Given the description of an element on the screen output the (x, y) to click on. 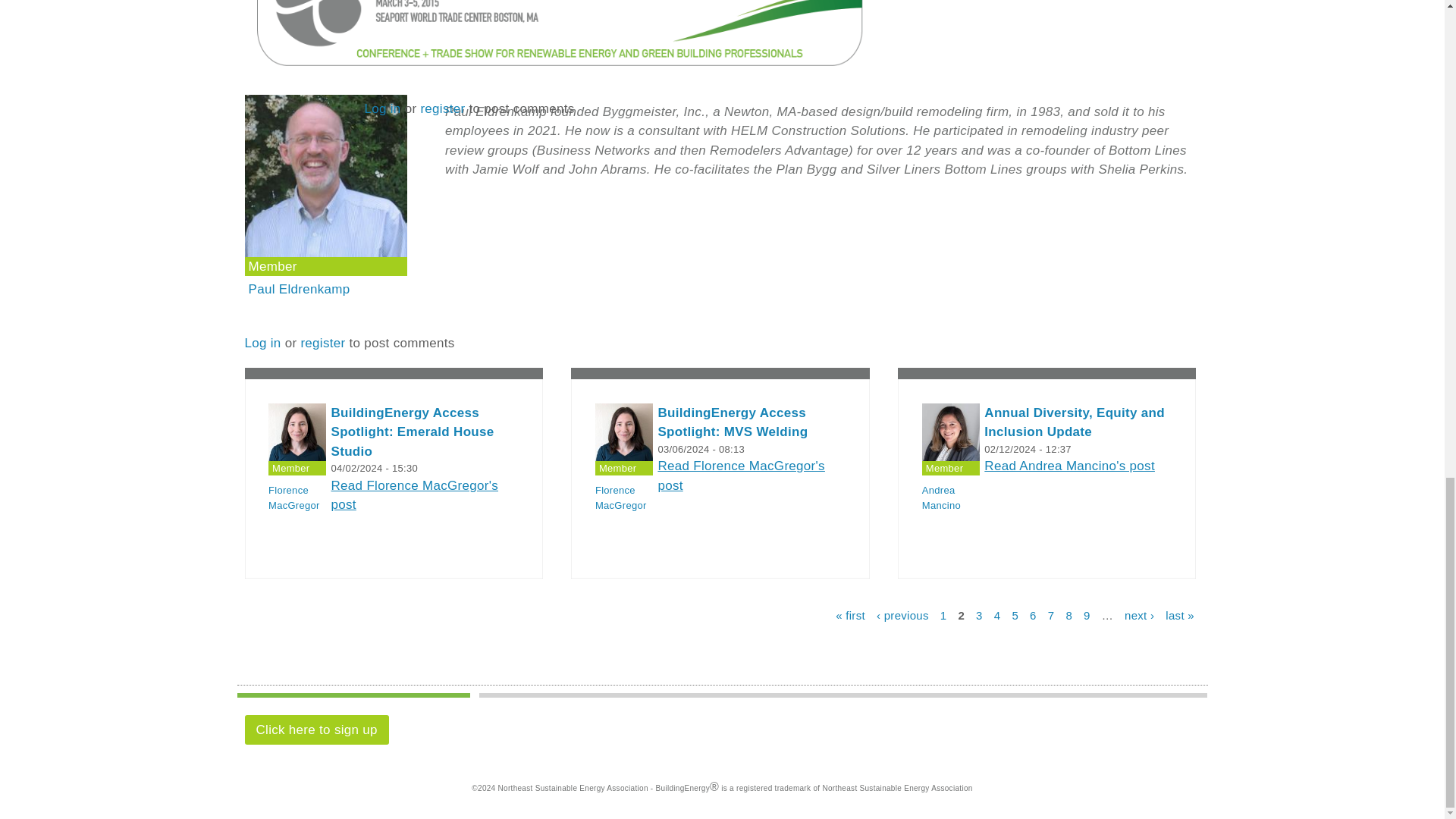
Go to last page (1179, 615)
Go to first page (849, 615)
Go to next page (1139, 615)
Go to previous page (902, 615)
